Given the description of an element on the screen output the (x, y) to click on. 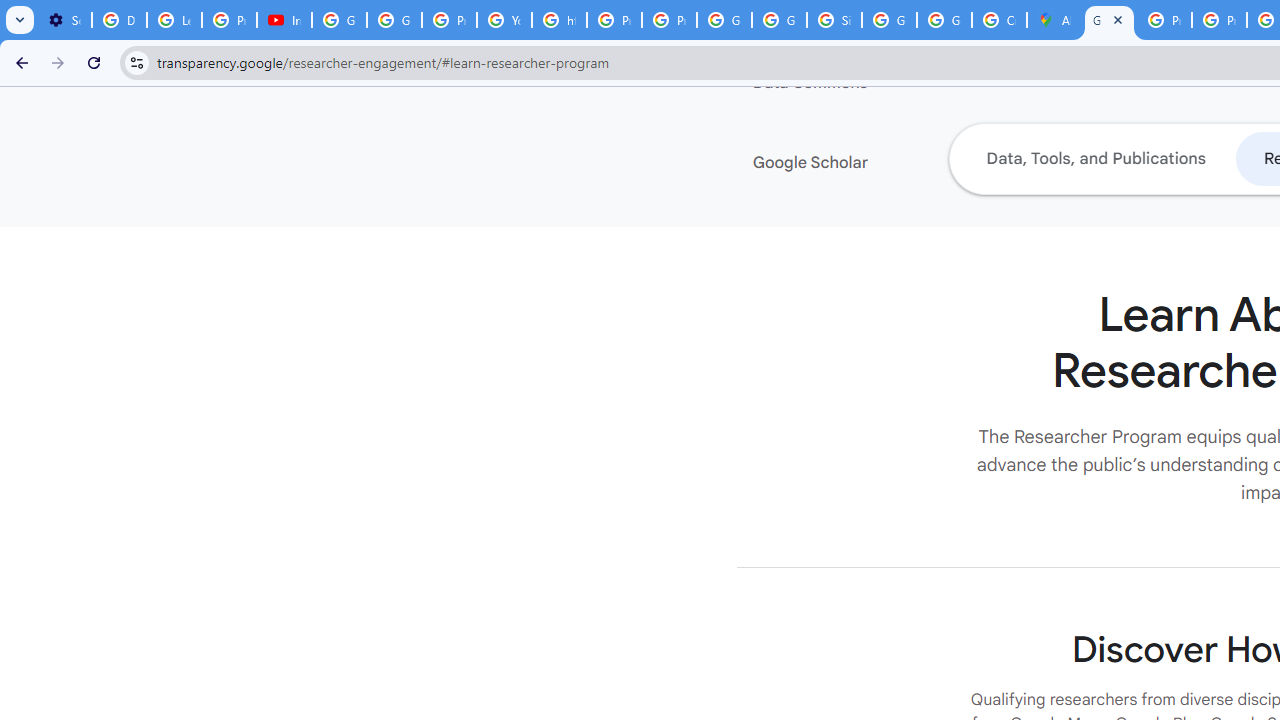
Google Researcher Engagement - Transparency Center (1108, 20)
Create your Google Account (998, 20)
